Given the description of an element on the screen output the (x, y) to click on. 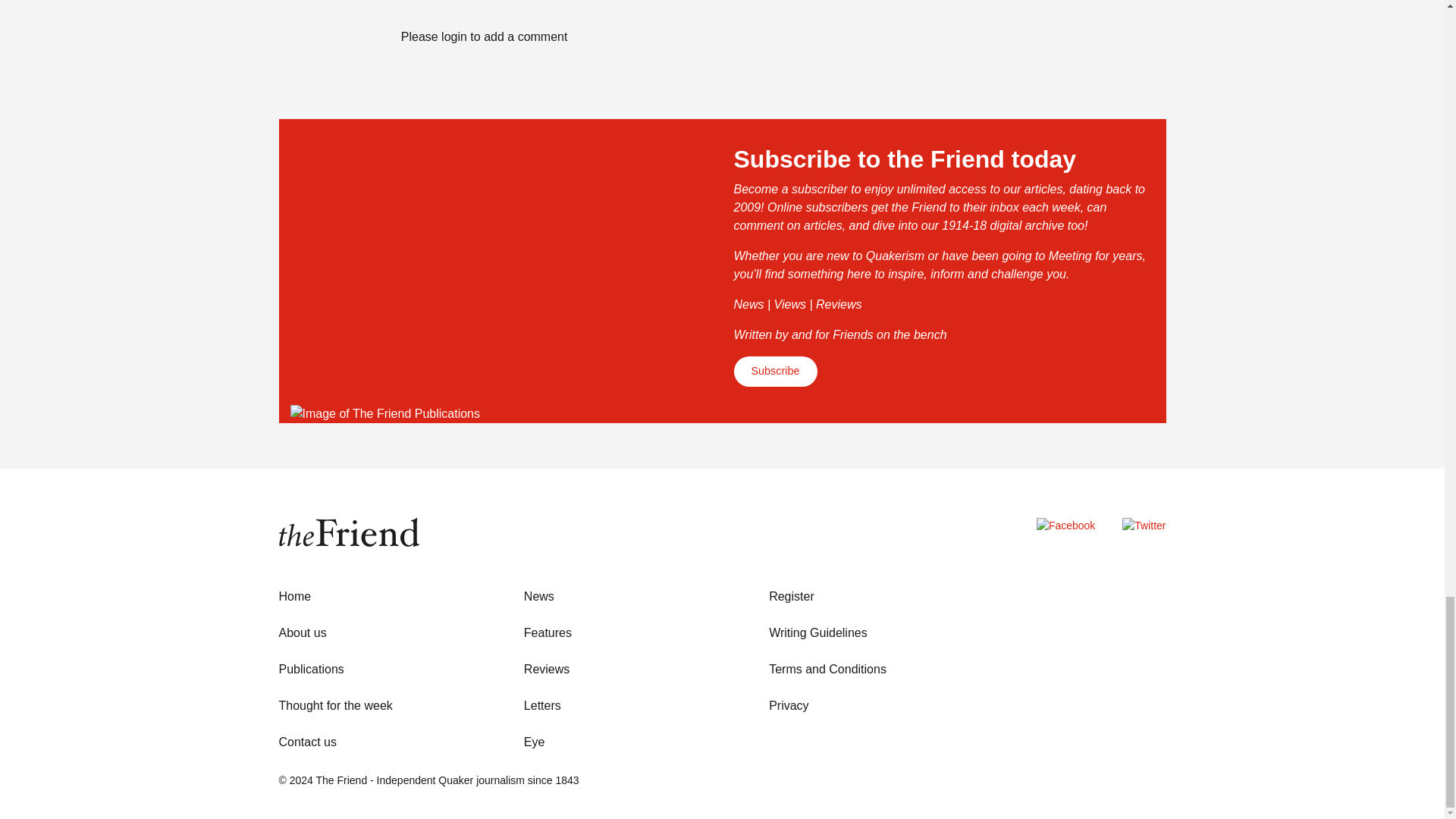
Features (548, 632)
Contact us (307, 741)
Register (790, 595)
Eye (534, 741)
News (539, 595)
About us (302, 632)
Thought for the week (336, 705)
Letters (542, 705)
Home (295, 595)
Subscribe (774, 371)
